Given the description of an element on the screen output the (x, y) to click on. 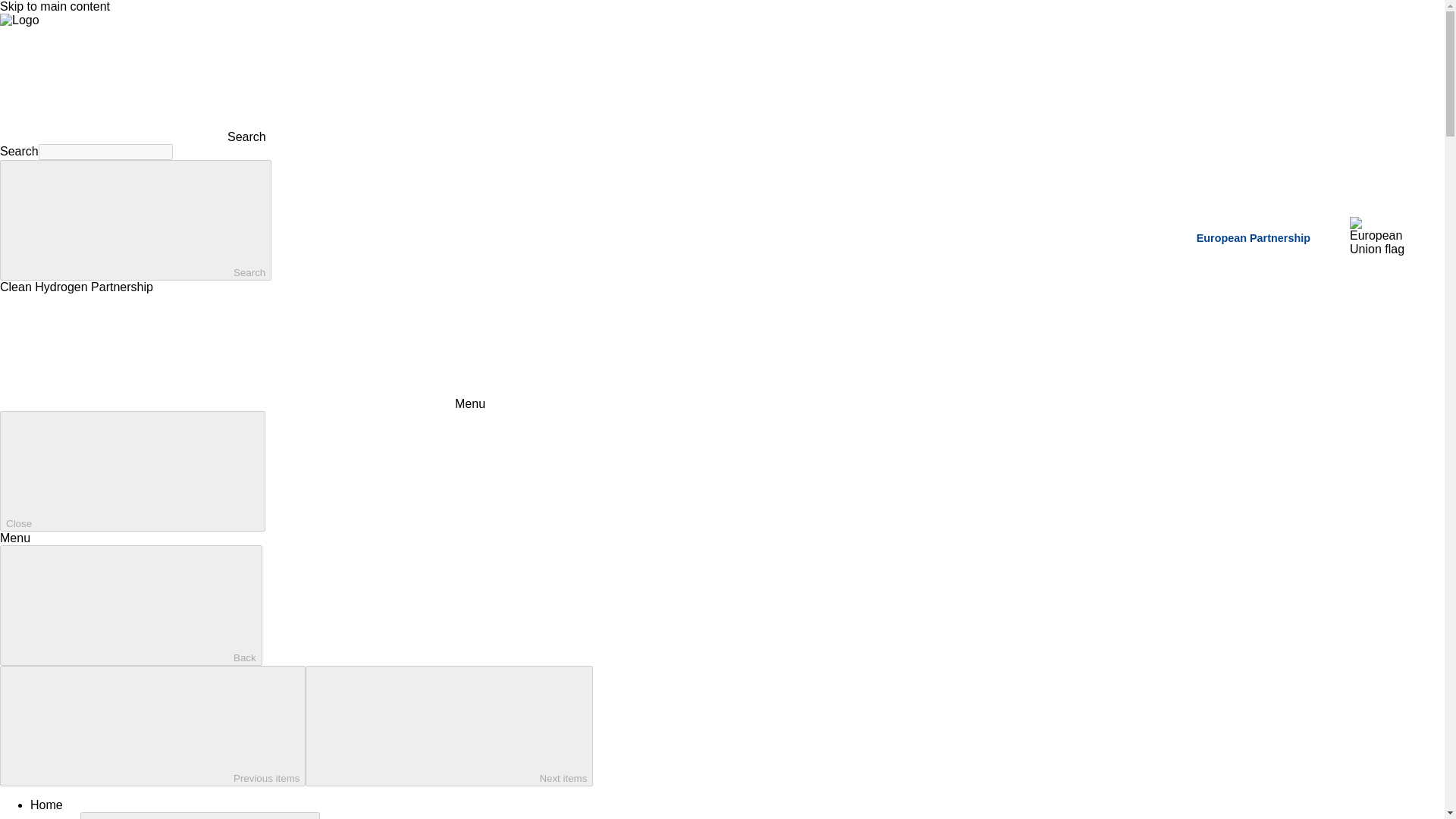
Clean Hydrogen Partnership (19, 19)
Search (133, 136)
Previous items (152, 725)
Close (132, 471)
Back (131, 605)
Home (46, 804)
Next items (448, 725)
Search (135, 219)
Menu (242, 403)
Skip to main content (55, 6)
